Given the description of an element on the screen output the (x, y) to click on. 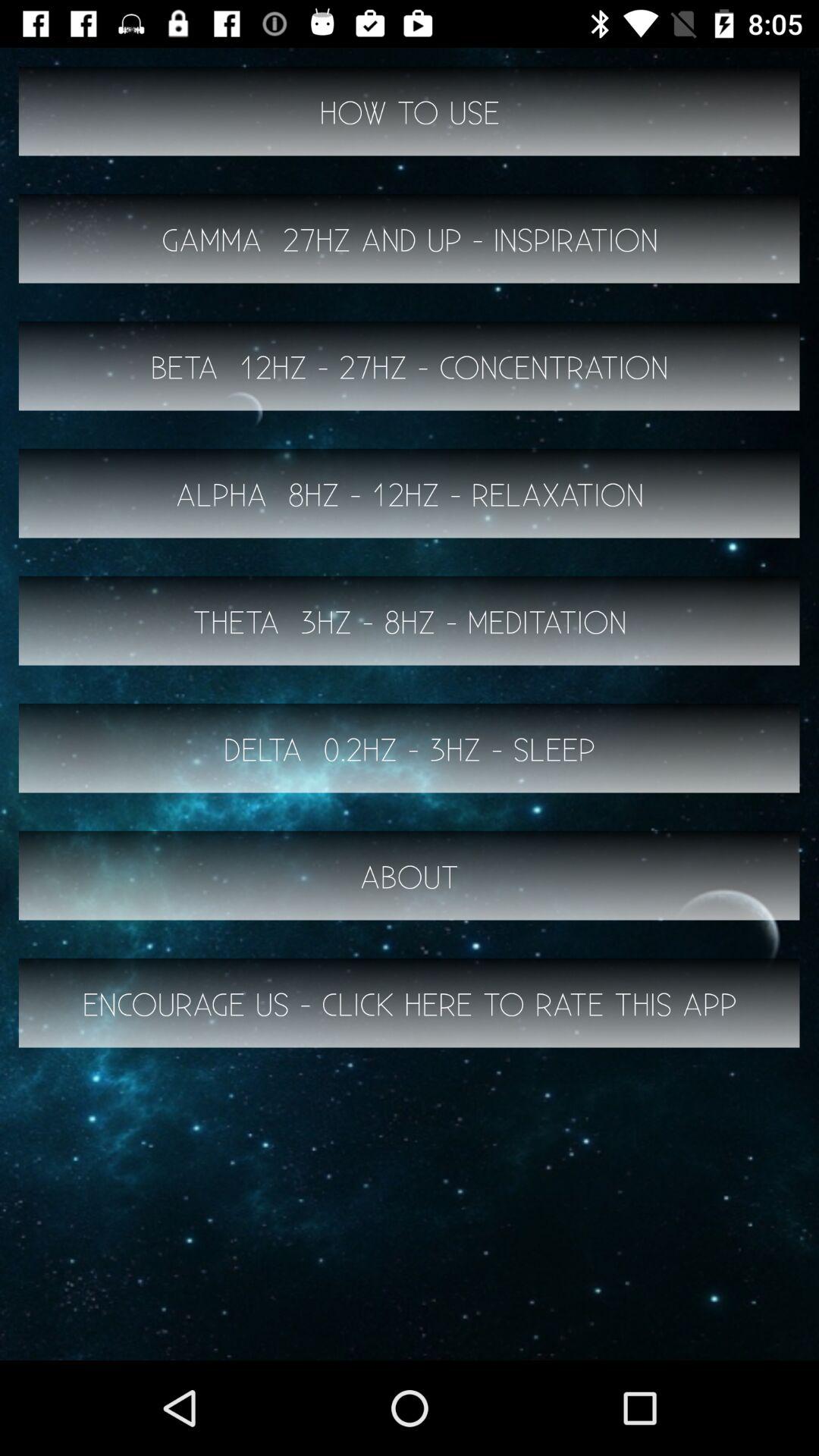
launch the icon above theta 3hz 8hz button (409, 493)
